Given the description of an element on the screen output the (x, y) to click on. 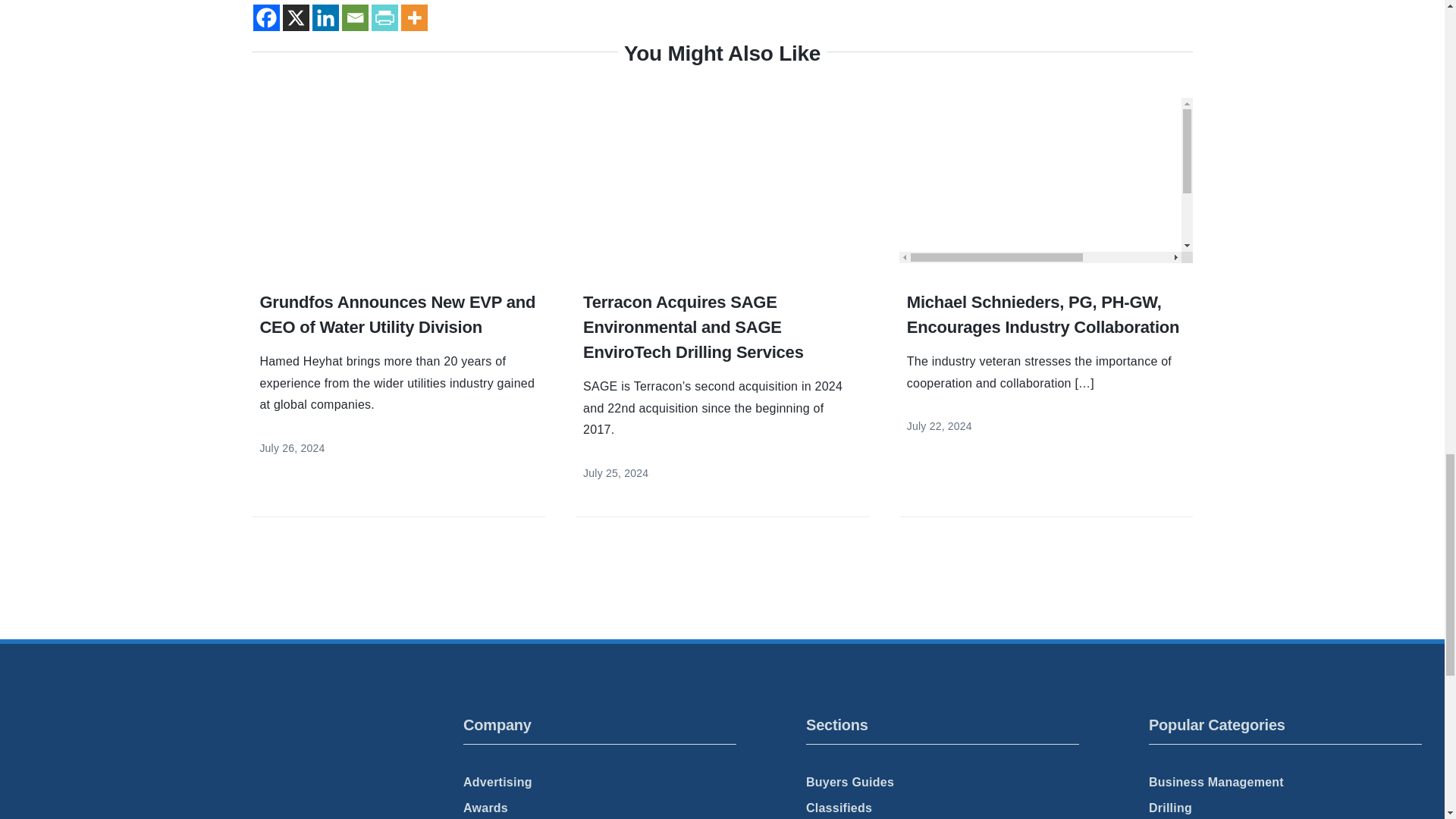
Linkedin (326, 17)
PrintFriendly (384, 17)
More (414, 17)
X (295, 17)
YouTube video player (1045, 179)
Facebook (266, 17)
Email (355, 17)
